Given the description of an element on the screen output the (x, y) to click on. 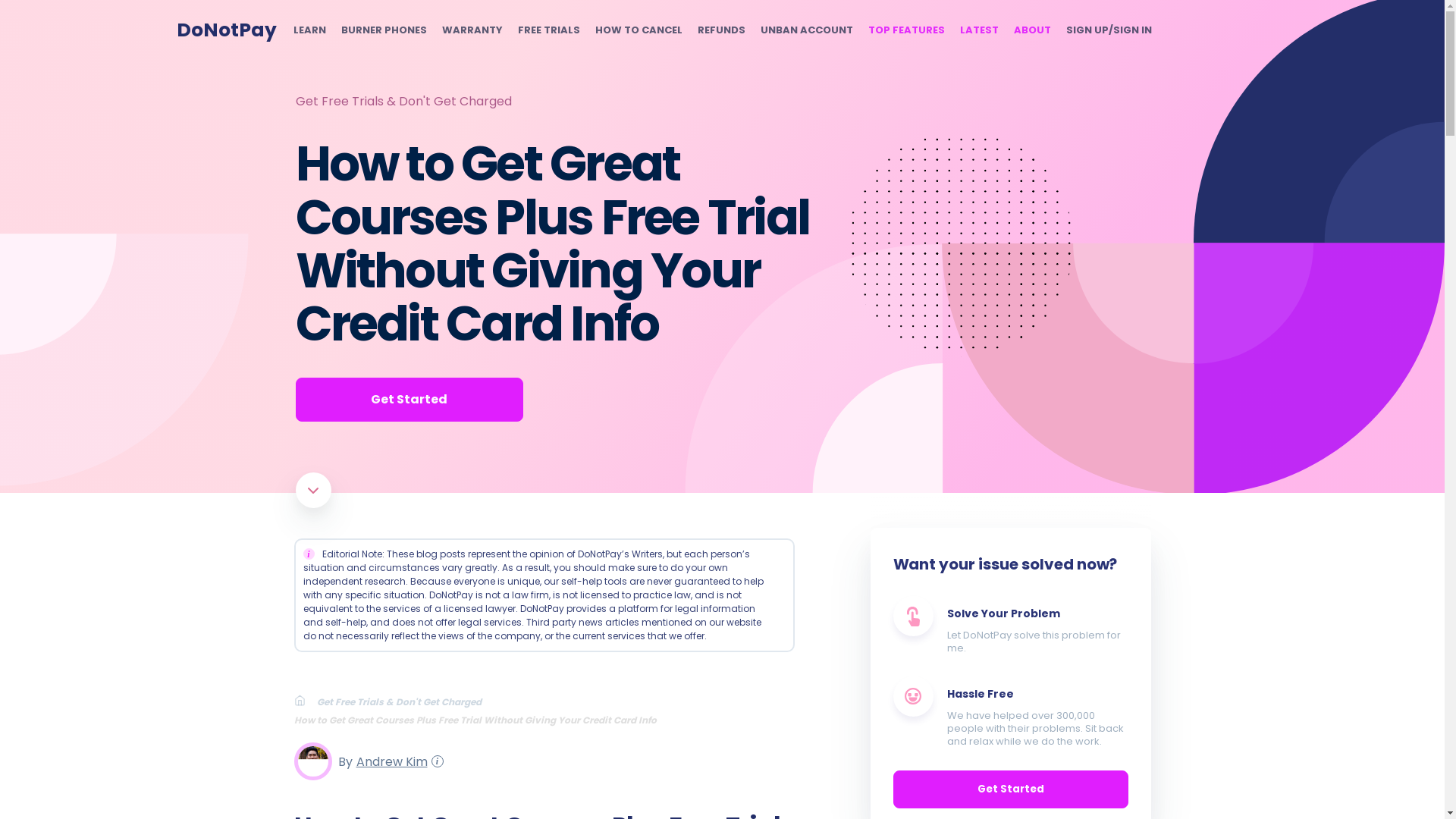
REFUNDS (721, 29)
Andrew Kim (389, 761)
WARRANTY (471, 29)
TOP FEATURES (905, 29)
LATEST (978, 29)
Get Started (408, 399)
FREE TRIALS (547, 29)
ABOUT (1031, 29)
HOW TO CANCEL (637, 29)
UNBAN ACCOUNT (805, 29)
